Given the description of an element on the screen output the (x, y) to click on. 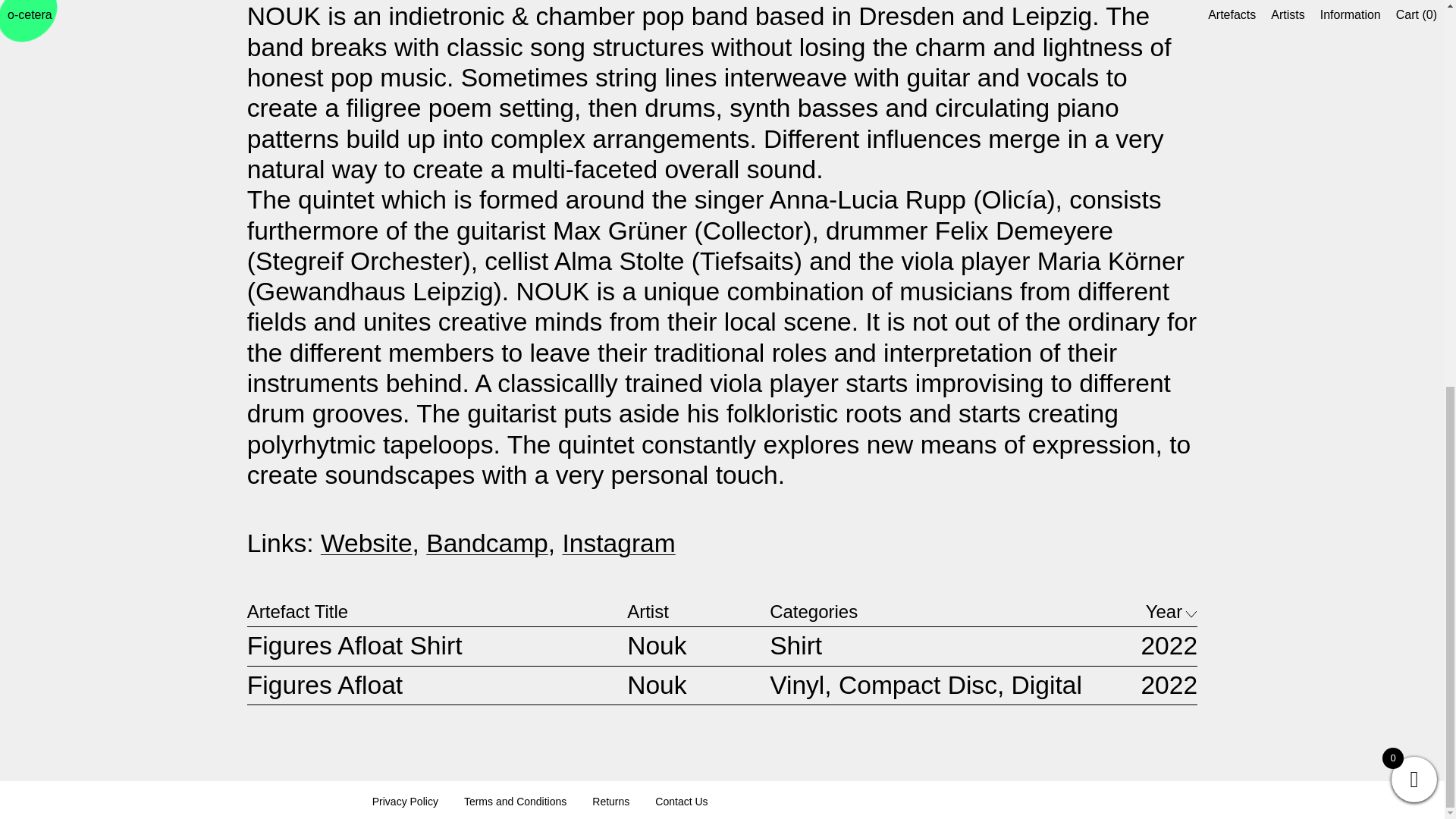
Bandcamp (487, 543)
Terms and Conditions (515, 801)
Website (366, 543)
Instagram (618, 543)
Returns (610, 801)
Privacy Policy (405, 801)
Contact Us (681, 801)
